Given the description of an element on the screen output the (x, y) to click on. 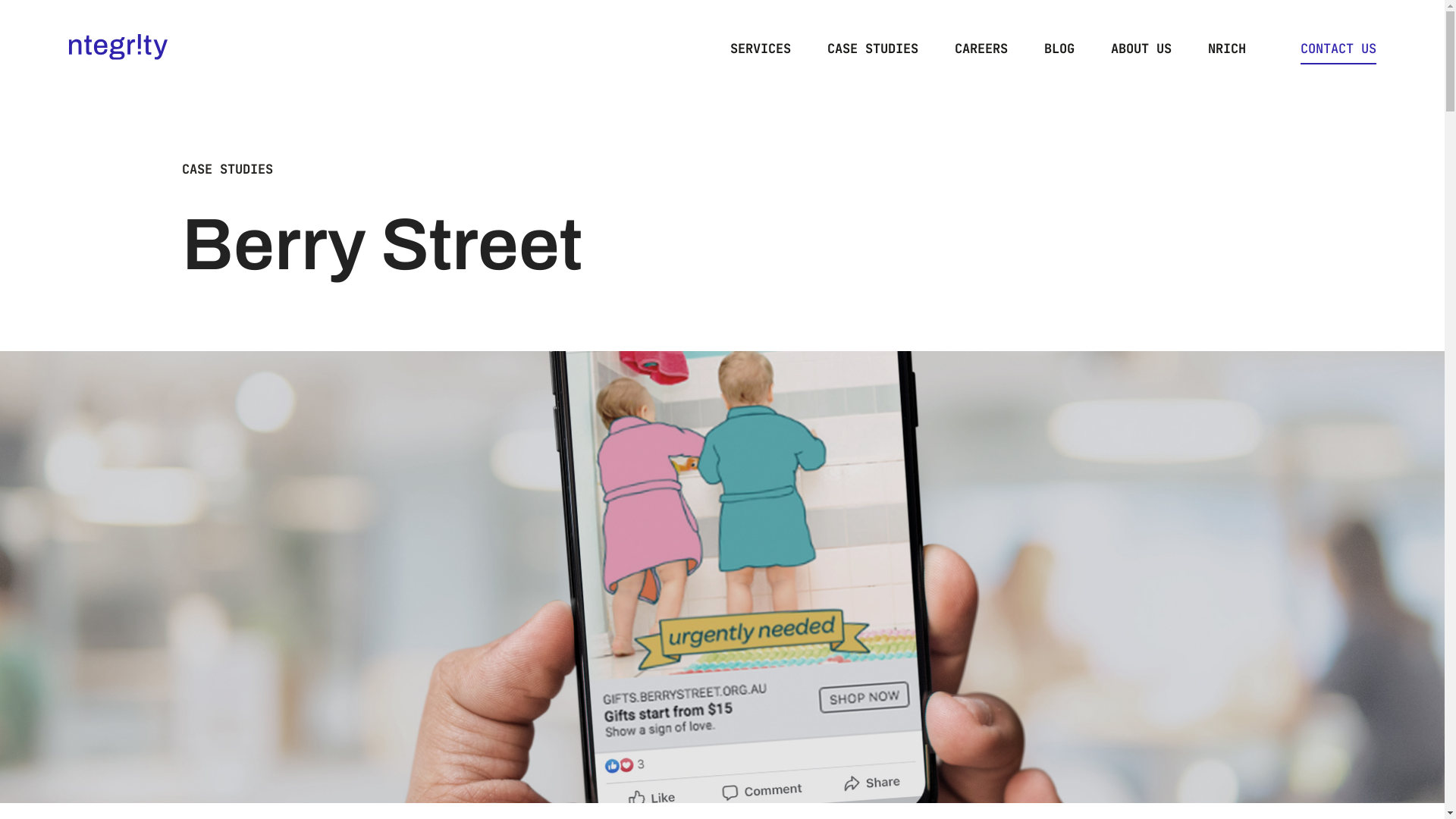
BLOG Element type: text (1058, 48)
SERVICES Element type: text (759, 48)
CAREERS Element type: text (980, 48)
CASE STUDIES Element type: text (871, 48)
NRICH Element type: text (1226, 48)
CASE STUDIES Element type: text (227, 168)
ABOUT US Element type: text (1140, 48)
CONTACT US Element type: text (1337, 48)
